Given the description of an element on the screen output the (x, y) to click on. 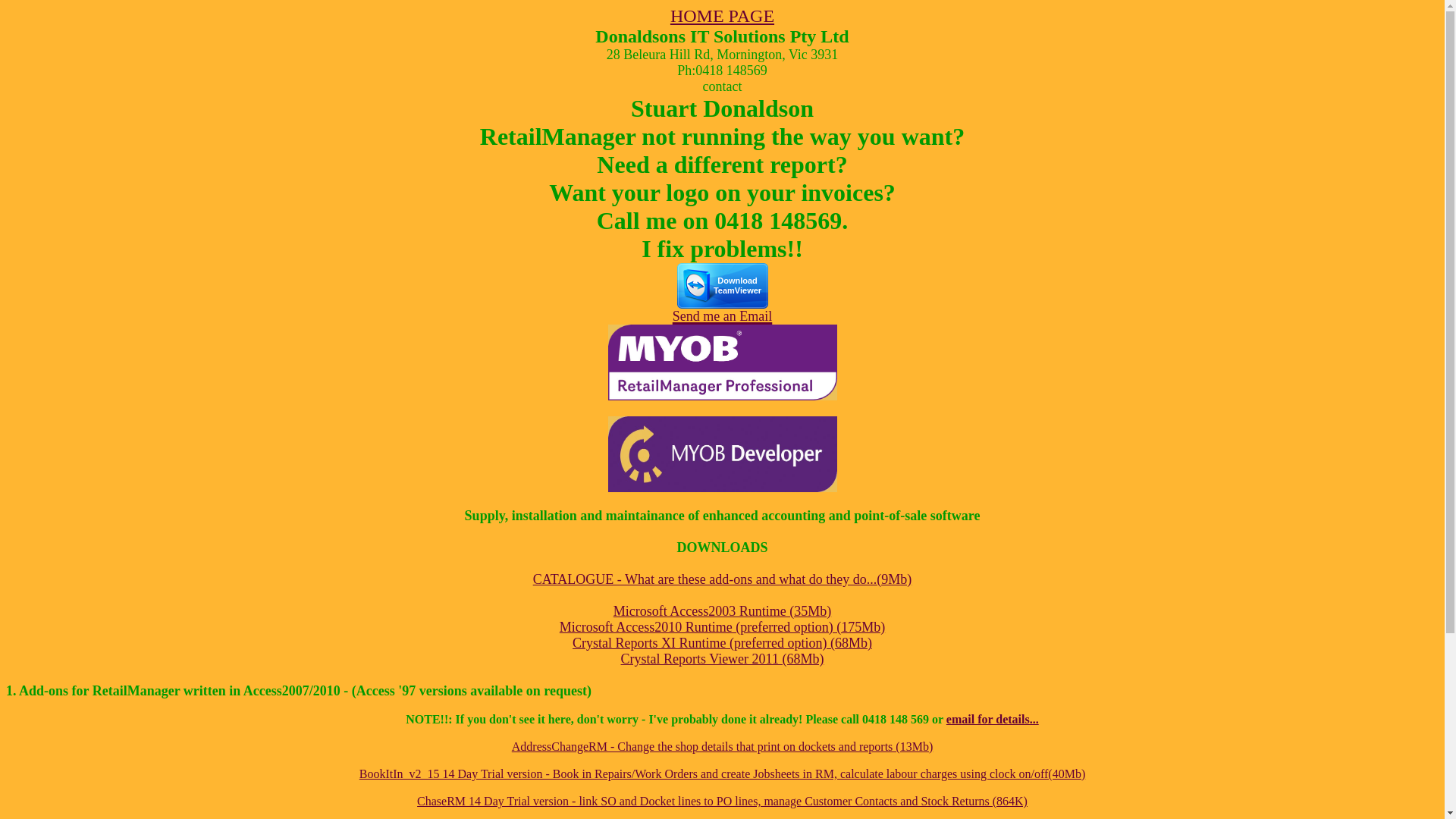
email for details... Element type: text (992, 718)
Download TeamViewer Element type: text (721, 299)
Send me an Email Element type: text (721, 312)
Download TeamViewer Full version Element type: hover (721, 285)
HOME PAGE Element type: text (722, 15)
Crystal Reports XI Runtime (preferred option) (68Mb) Element type: text (722, 642)
Crystal Reports Viewer 2011 (68Mb) Element type: text (722, 658)
Microsoft Access2003 Runtime (35Mb) Element type: text (722, 610)
Microsoft Access2010 Runtime (preferred option) (175Mb) Element type: text (721, 626)
